Given the description of an element on the screen output the (x, y) to click on. 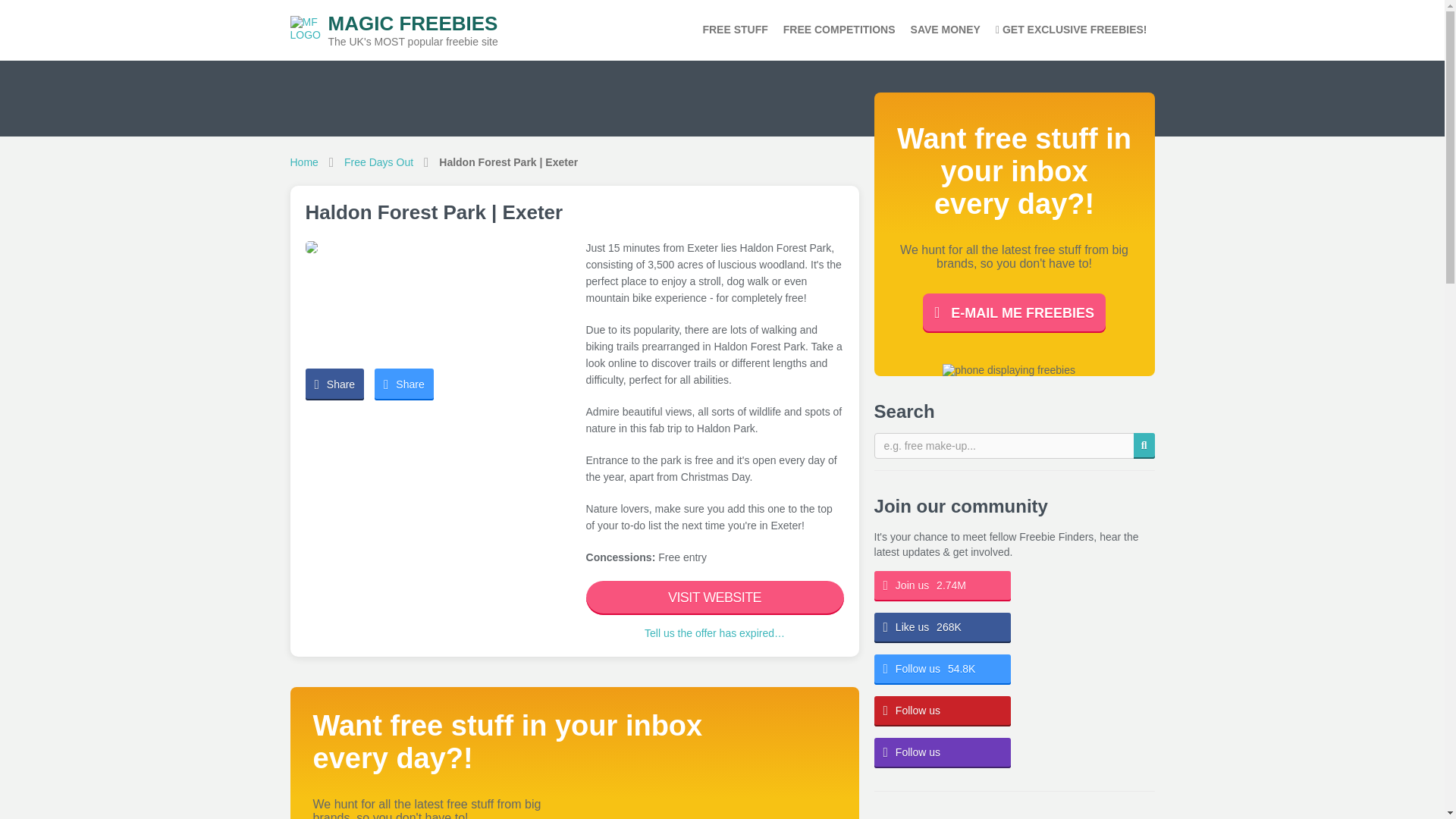
GET EXCLUSIVE FREEBIES! (1071, 30)
Share on Twitter (403, 384)
Search for freebies, deals, offers and more... (1014, 445)
Share on Facebook (412, 30)
FREE STUFF (334, 384)
